Given the description of an element on the screen output the (x, y) to click on. 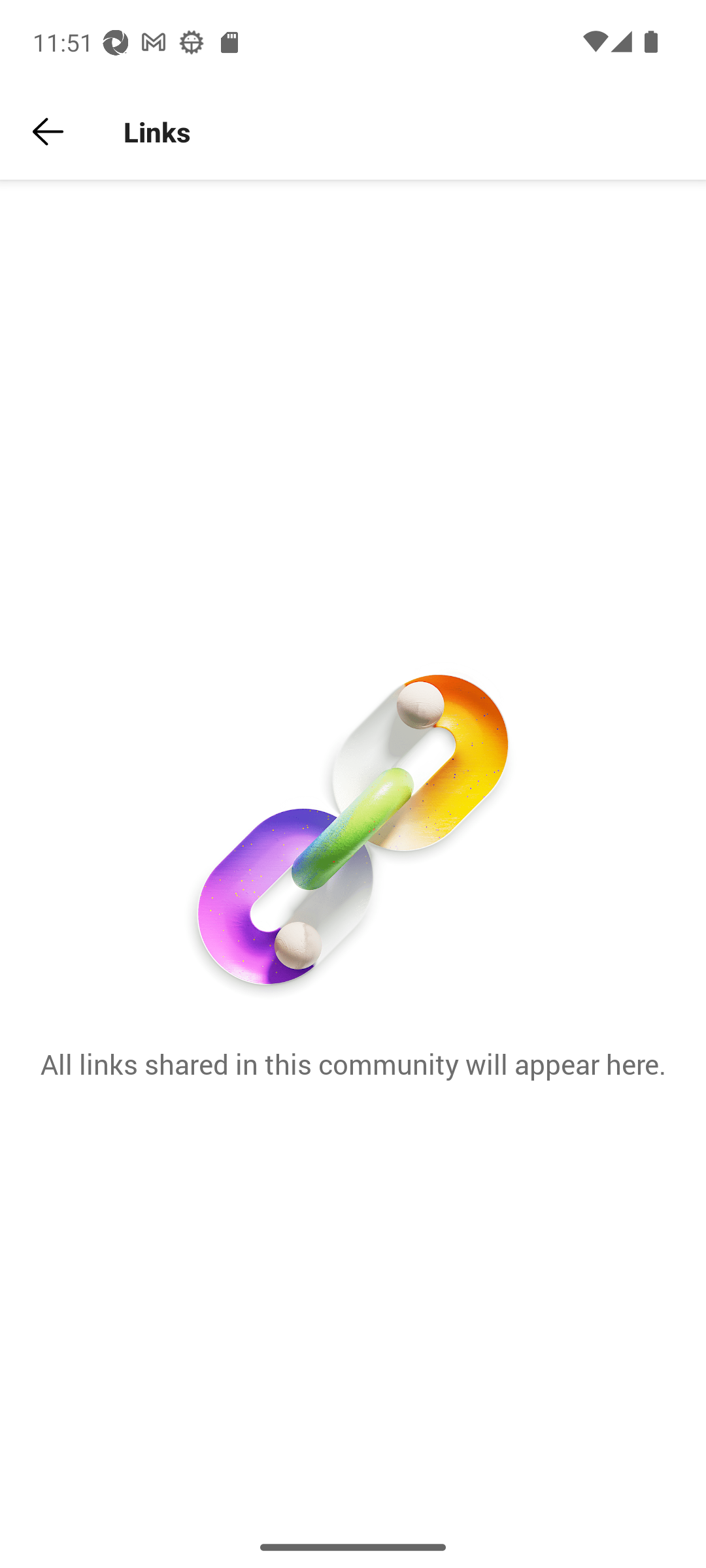
Back (48, 131)
